Given the description of an element on the screen output the (x, y) to click on. 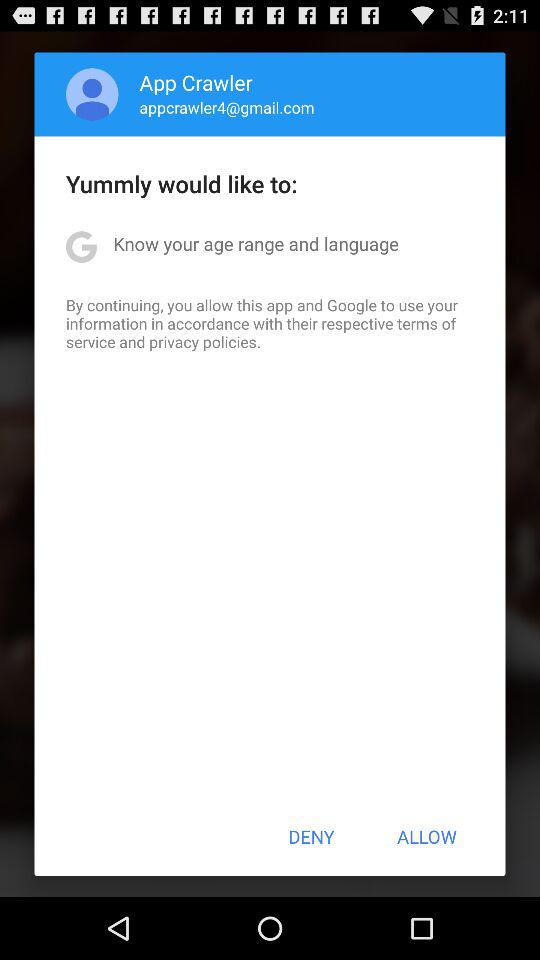
launch the icon below the by continuing you app (311, 836)
